Given the description of an element on the screen output the (x, y) to click on. 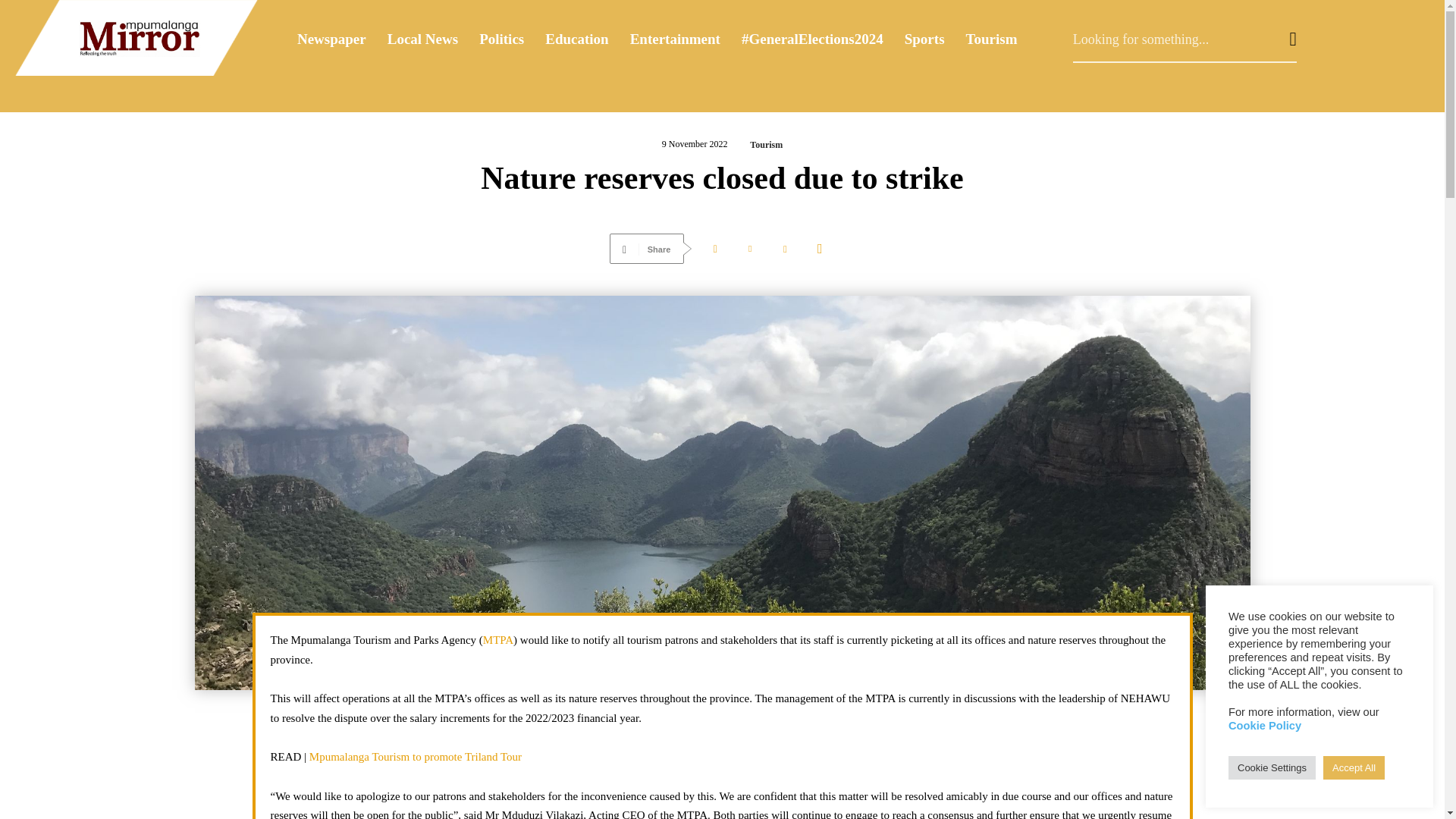
Twitter (750, 248)
Tourism (766, 144)
Education (576, 39)
Mpumalanga Tourism to promote Triland Tour (414, 756)
Pinterest (784, 248)
Facebook (715, 248)
Newspaper (331, 39)
Tourism (991, 39)
Sports (924, 39)
Entertainment (675, 39)
MTPA (498, 639)
Local News (422, 39)
WhatsApp (819, 248)
Politics (501, 39)
